Given the description of an element on the screen output the (x, y) to click on. 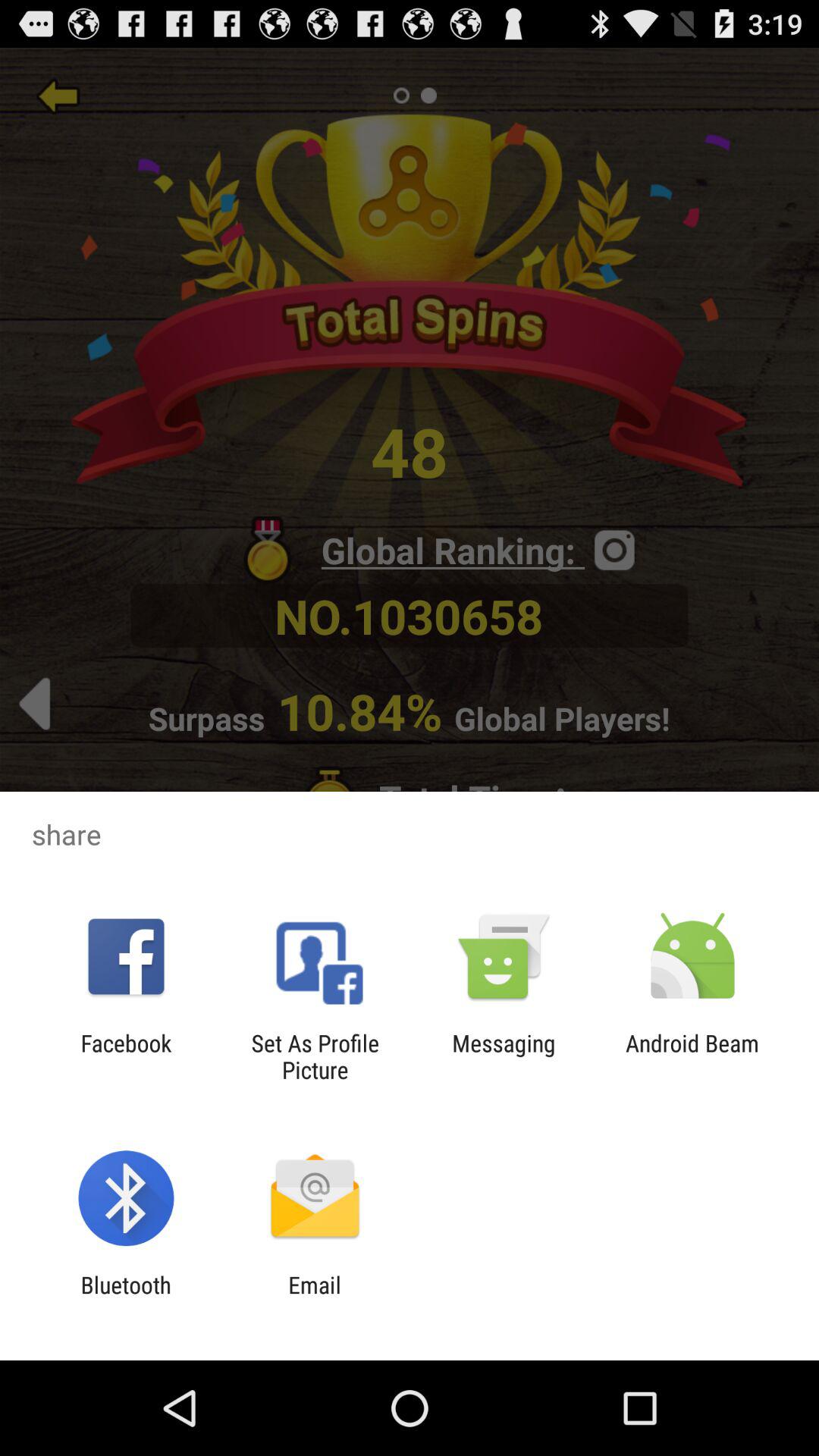
launch bluetooth icon (125, 1298)
